Given the description of an element on the screen output the (x, y) to click on. 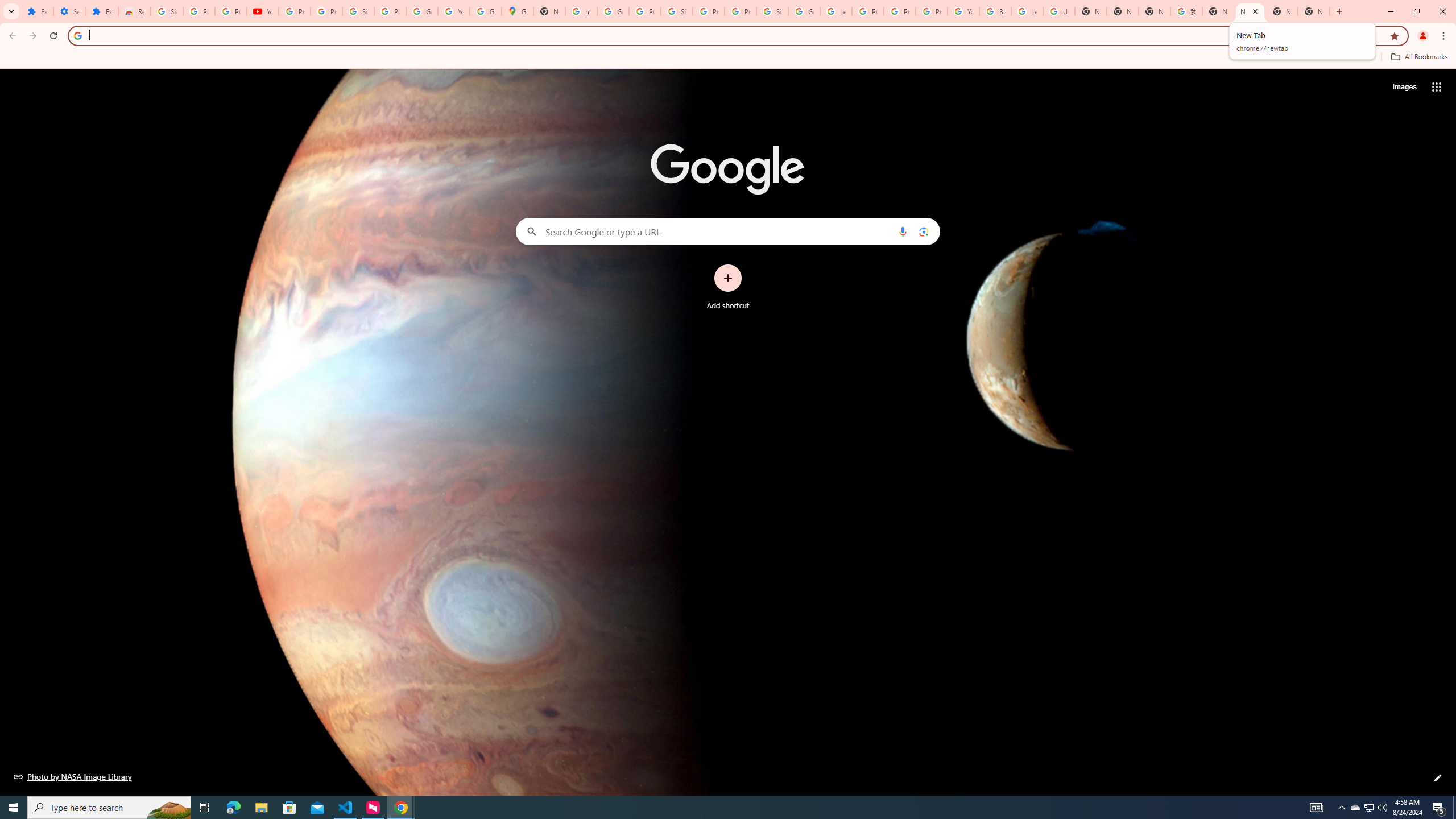
Privacy Help Center - Policies Help (868, 11)
Reviews: Helix Fruit Jump Arcade Game (134, 11)
Sign in - Google Accounts (772, 11)
YouTube (453, 11)
